Given the description of an element on the screen output the (x, y) to click on. 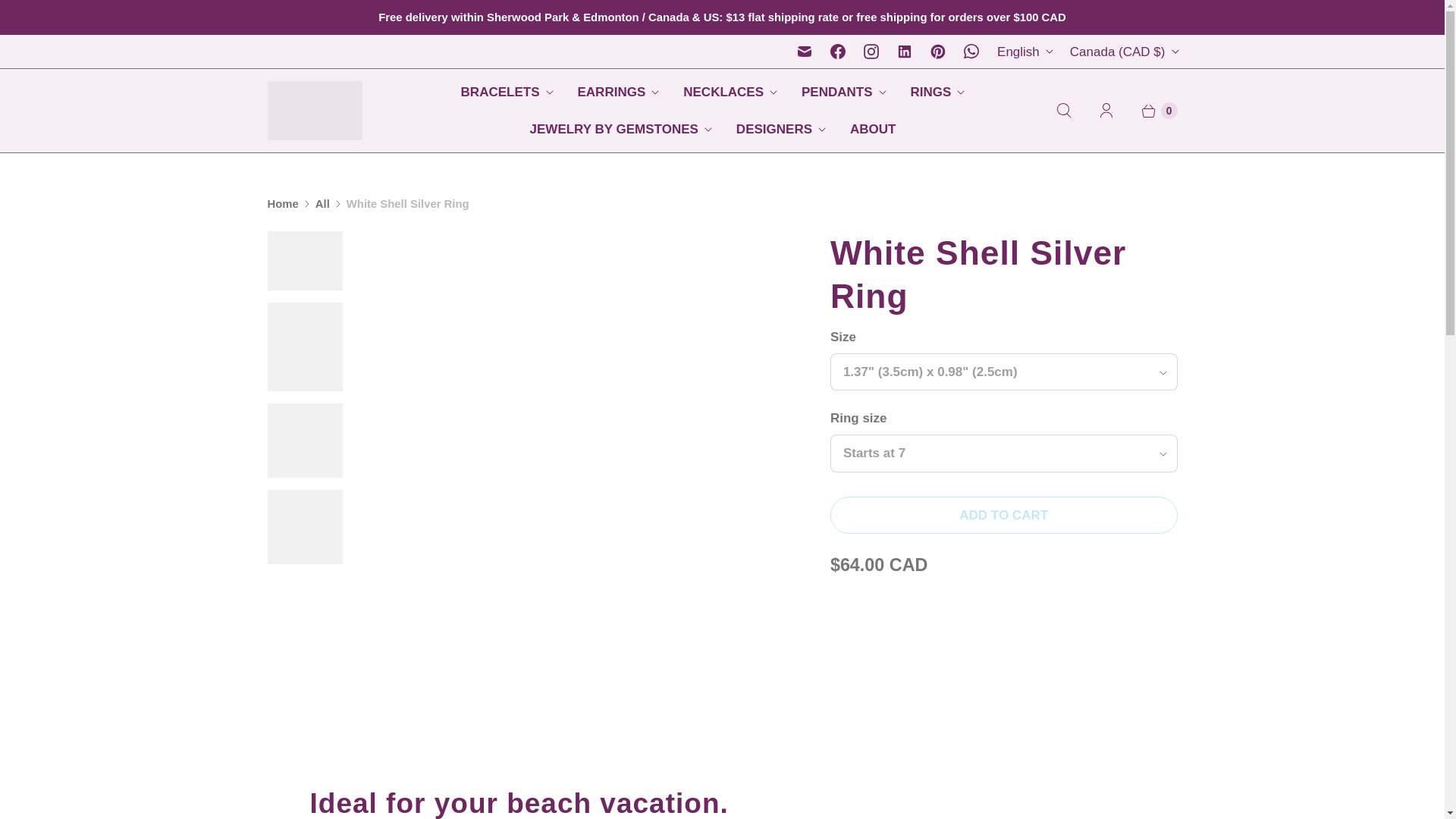
White Shell Silver Ring with model - Nueve Sterling (582, 240)
English (1024, 52)
White Shell Silver Ring - Nueve Sterling (184, 240)
